Given the description of an element on the screen output the (x, y) to click on. 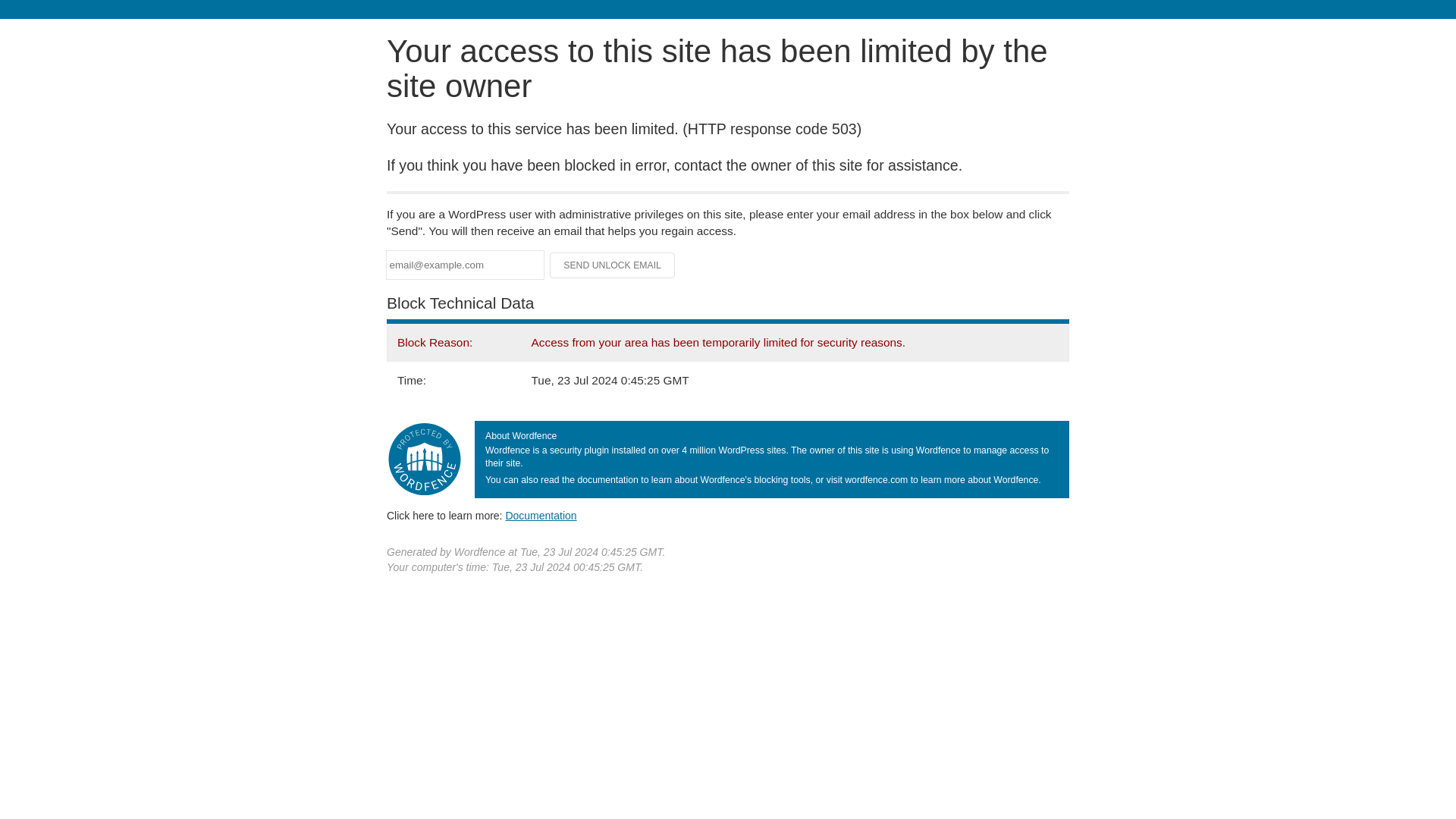
Send Unlock Email (612, 265)
Documentation (540, 515)
Send Unlock Email (612, 265)
